Given the description of an element on the screen output the (x, y) to click on. 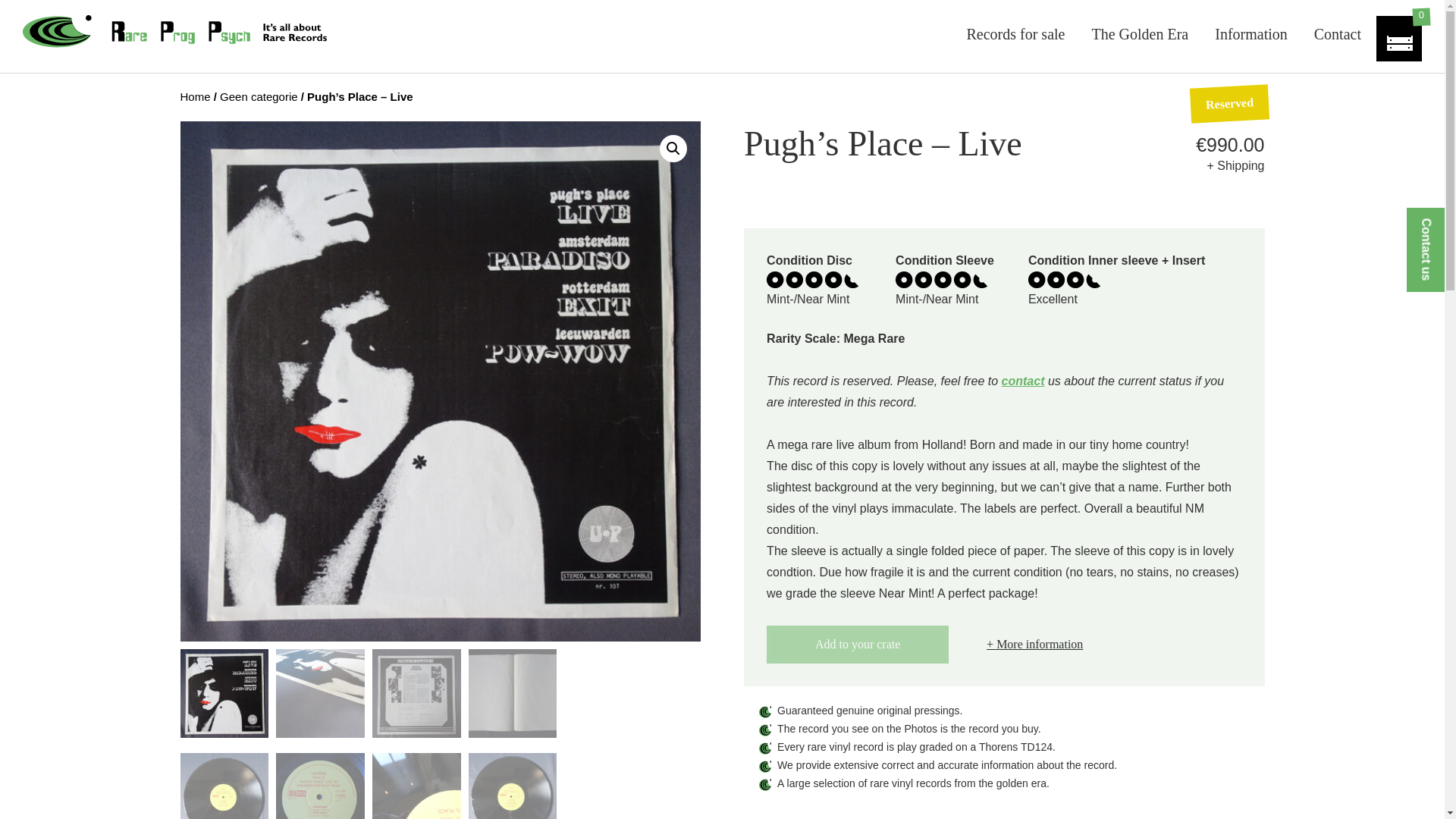
The Golden Era (1139, 30)
contact (1023, 380)
Add to cart (858, 644)
Information (1251, 30)
Records for sale (1016, 30)
RareProgPsych (178, 22)
Home (195, 95)
Geen categorie (258, 95)
Contact (1338, 30)
